Given the description of an element on the screen output the (x, y) to click on. 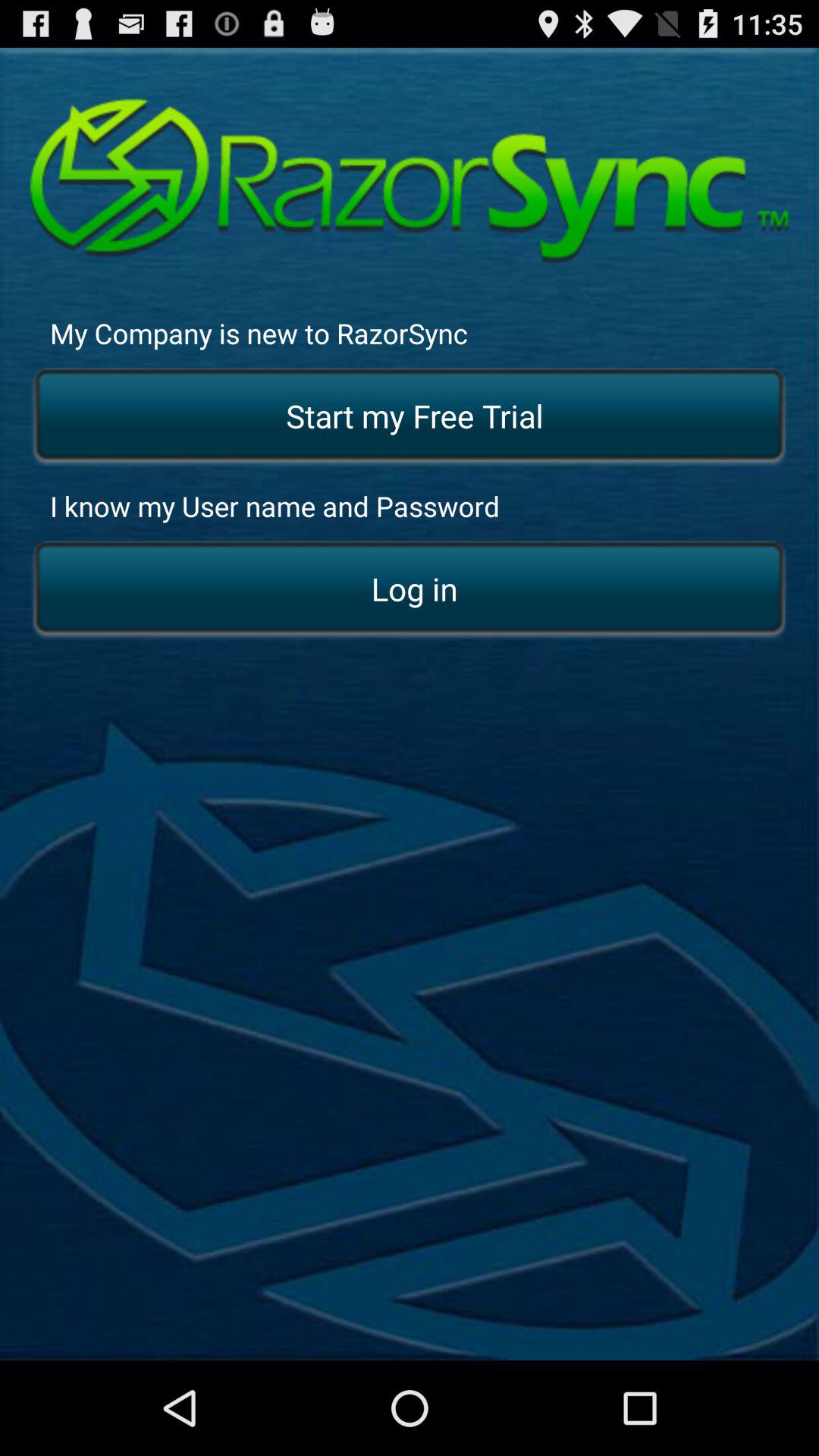
turn on icon below the my company is item (409, 417)
